Given the description of an element on the screen output the (x, y) to click on. 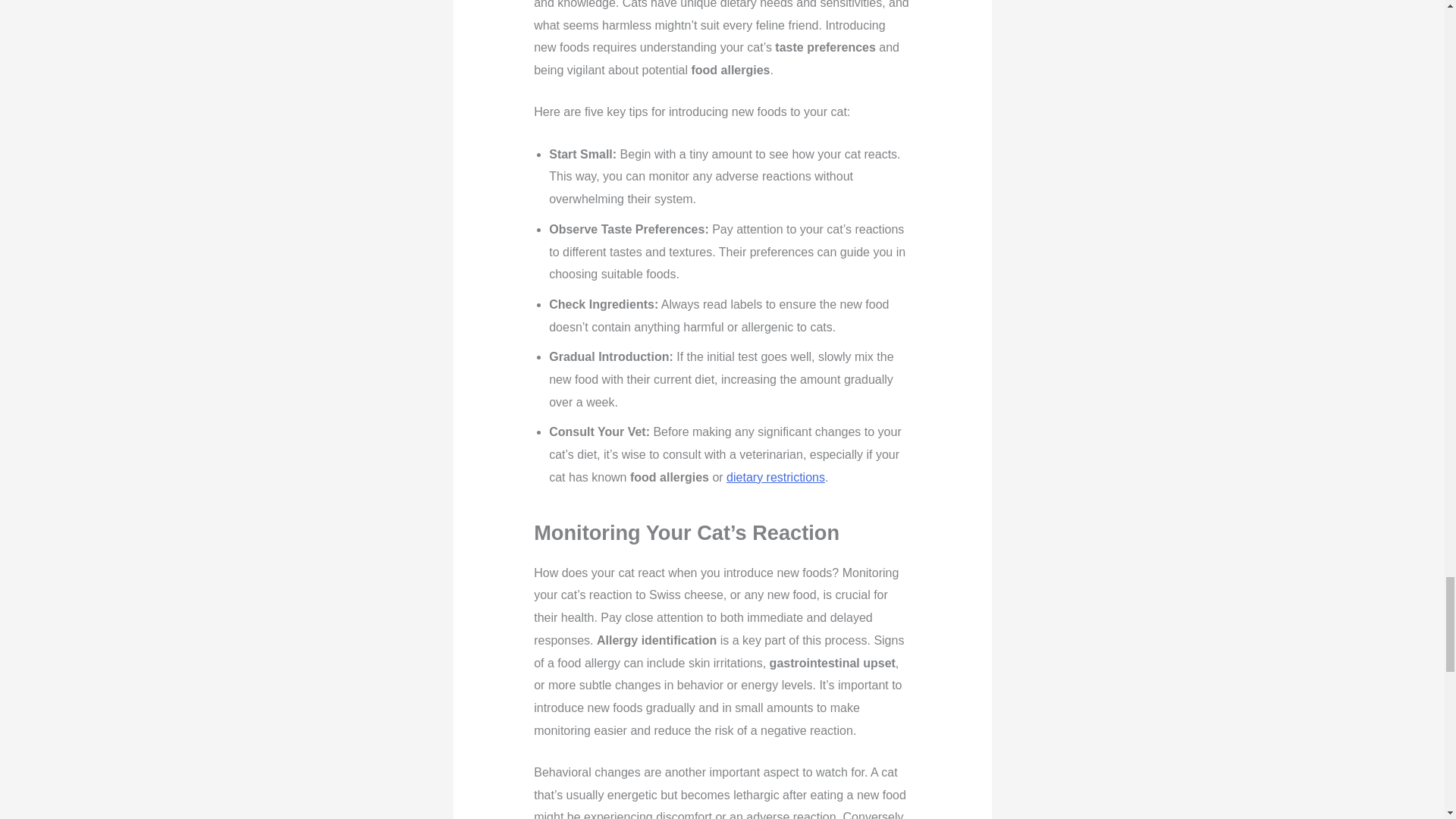
dietary restrictions (775, 477)
dietary restrictions (775, 477)
